Given the description of an element on the screen output the (x, y) to click on. 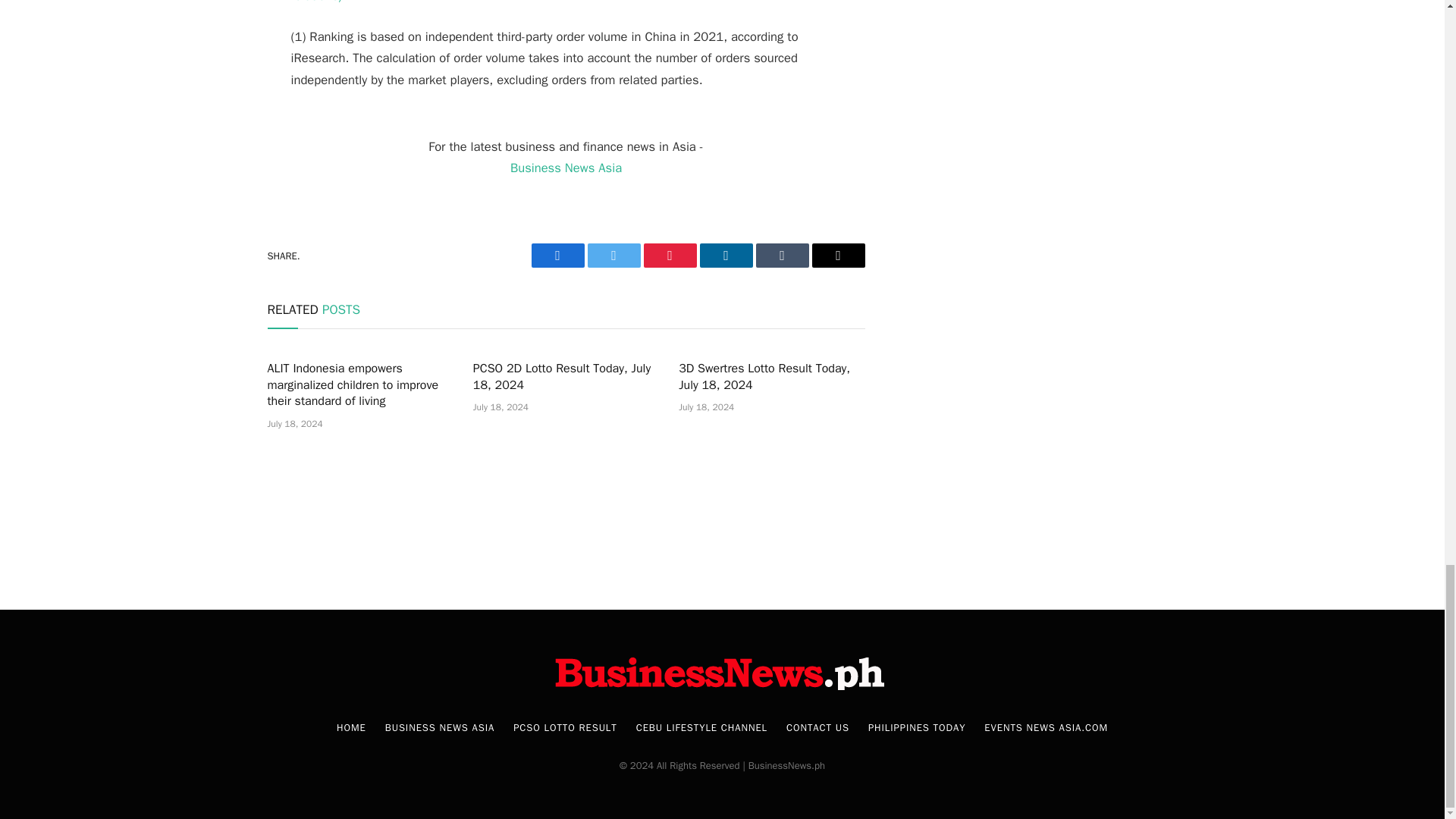
Share on Facebook (557, 255)
Pinterest (669, 255)
PCSO 2D Lotto Result Today, July 18, 2024 (566, 377)
Twitter (613, 255)
Email (837, 255)
3D Swertres Lotto Result Today, July 18, 2024 (771, 377)
Facebook (557, 255)
LinkedIn (725, 255)
Tumblr (781, 255)
Business News Asia (566, 168)
